Given the description of an element on the screen output the (x, y) to click on. 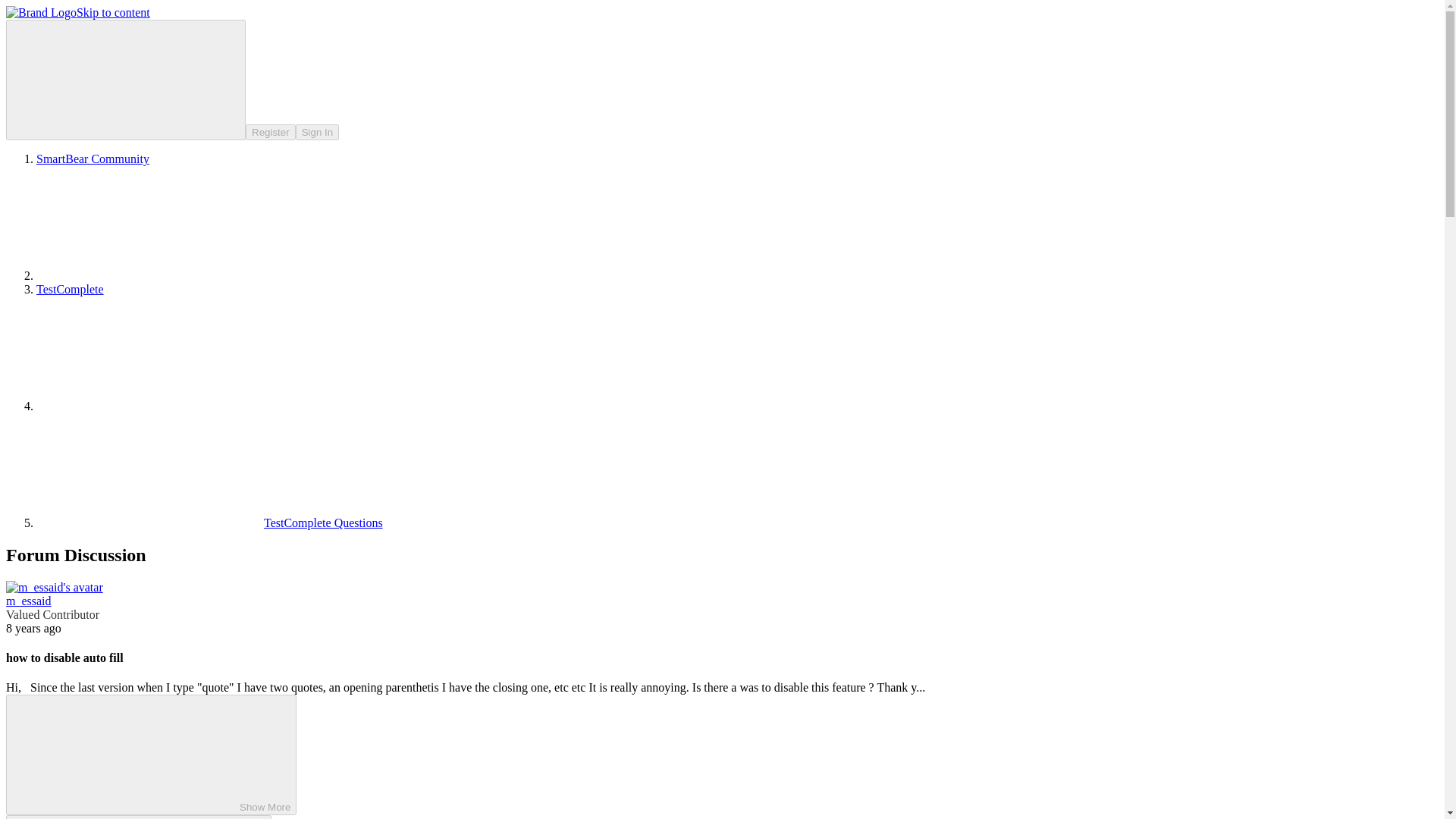
TestComplete (69, 288)
ReplyReply (137, 816)
June 9, 2017 at 7:50 AM (33, 627)
TestComplete Questions (209, 522)
Show More (151, 754)
Search (125, 79)
SmartBear Community (92, 158)
Skip to content (113, 11)
Sign In (317, 132)
Register (270, 132)
